Given the description of an element on the screen output the (x, y) to click on. 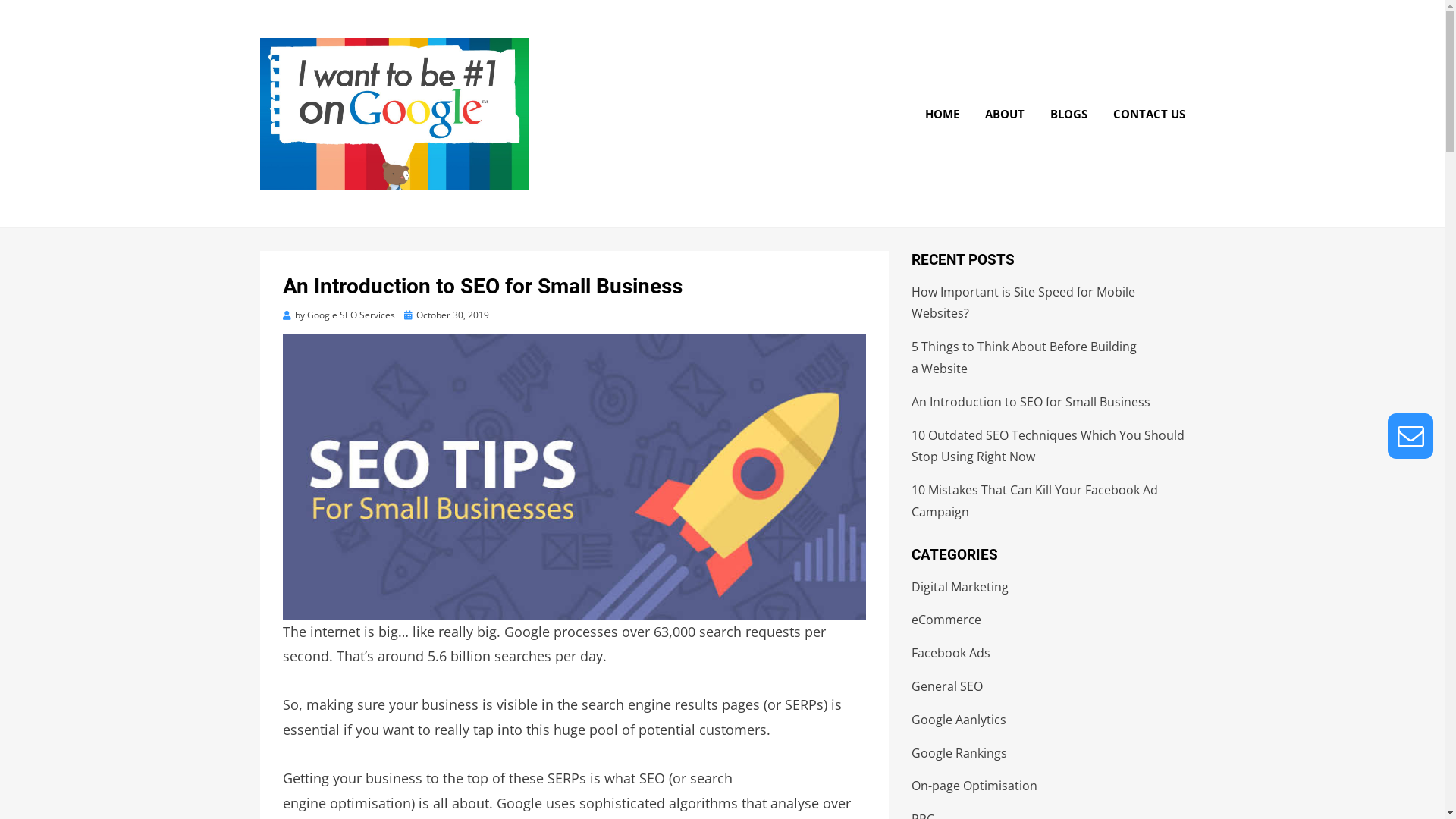
BLOGS Element type: text (1068, 113)
eCommerce Element type: text (946, 619)
General SEO Element type: text (946, 685)
5 Things to Think About Before Building a Website Element type: text (1023, 357)
An Introduction to SEO for Small Business Element type: text (1030, 401)
Google Rankings Element type: text (959, 752)
HOME Element type: text (941, 113)
10 Mistakes That Can Kill Your Facebook Ad Campaign Element type: text (1034, 500)
On-page Optimisation Element type: text (974, 785)
Google Aanlytics Element type: text (958, 719)
How Important is Site Speed for Mobile Websites? Element type: text (1023, 302)
Digital Marketing Element type: text (959, 586)
Google SEO Services Element type: text (350, 314)
ABOUT Element type: text (1004, 113)
October 30, 2019 Element type: text (445, 314)
CONTACT US Element type: text (1141, 113)
Facebook Ads Element type: text (950, 652)
